Given the description of an element on the screen output the (x, y) to click on. 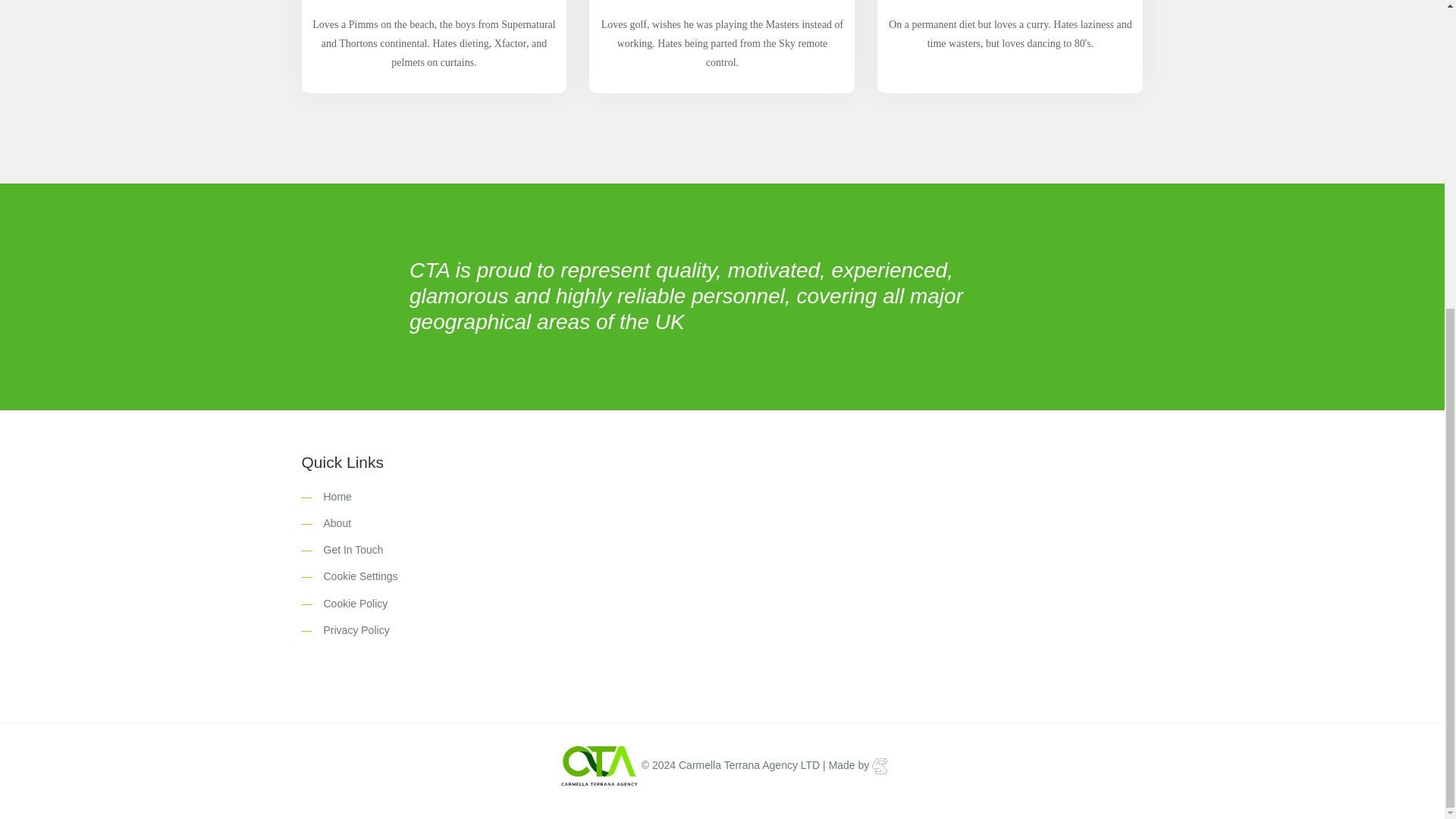
Home (332, 496)
Cookie Policy (350, 603)
Privacy Policy (351, 630)
About (332, 522)
Get In Touch (348, 549)
Cookie Settings (355, 576)
